Given the description of an element on the screen output the (x, y) to click on. 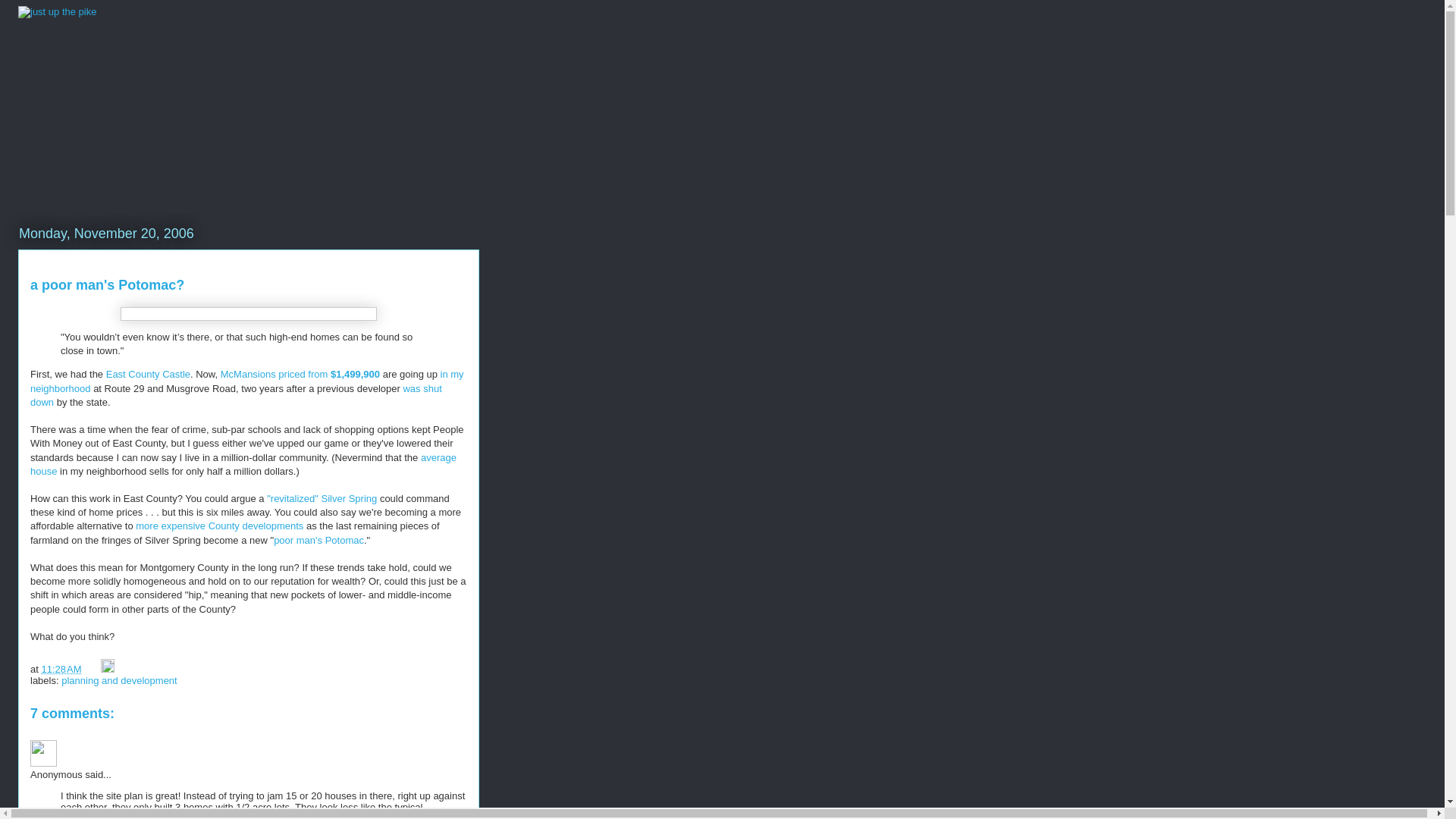
poor man's Potomac (318, 540)
planning and development (119, 680)
"revitalized" Silver Spring (321, 498)
in my neighborhood (247, 380)
permanent link (60, 668)
Edit Post (107, 668)
average house (243, 464)
East County Castle (148, 374)
was shut down (236, 395)
Anonymous (43, 753)
Email Post (92, 668)
more expensive County developments (218, 525)
